Given the description of an element on the screen output the (x, y) to click on. 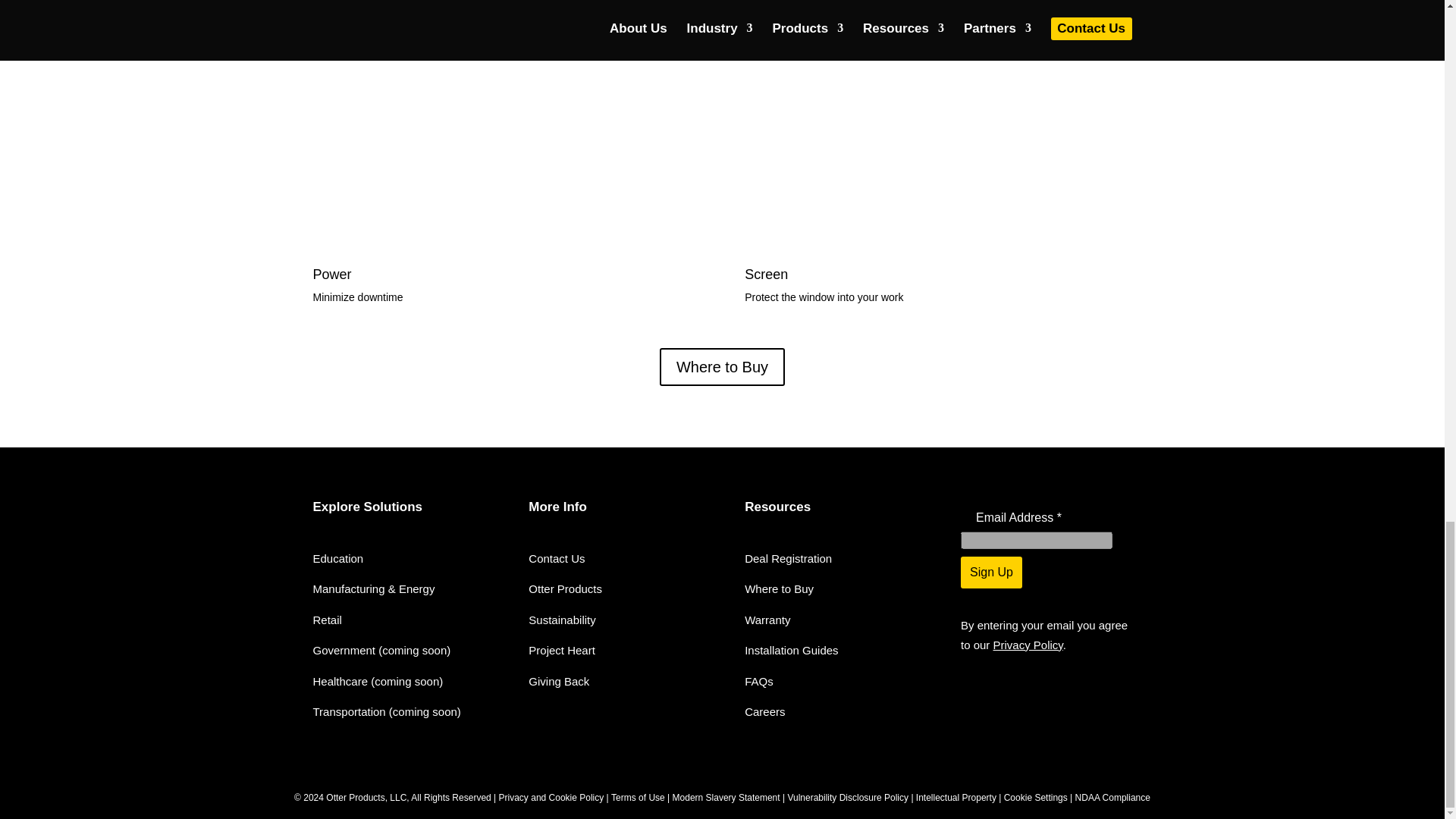
Where to Buy (721, 366)
Power (331, 273)
Education (337, 558)
Screen (765, 273)
